Given the description of an element on the screen output the (x, y) to click on. 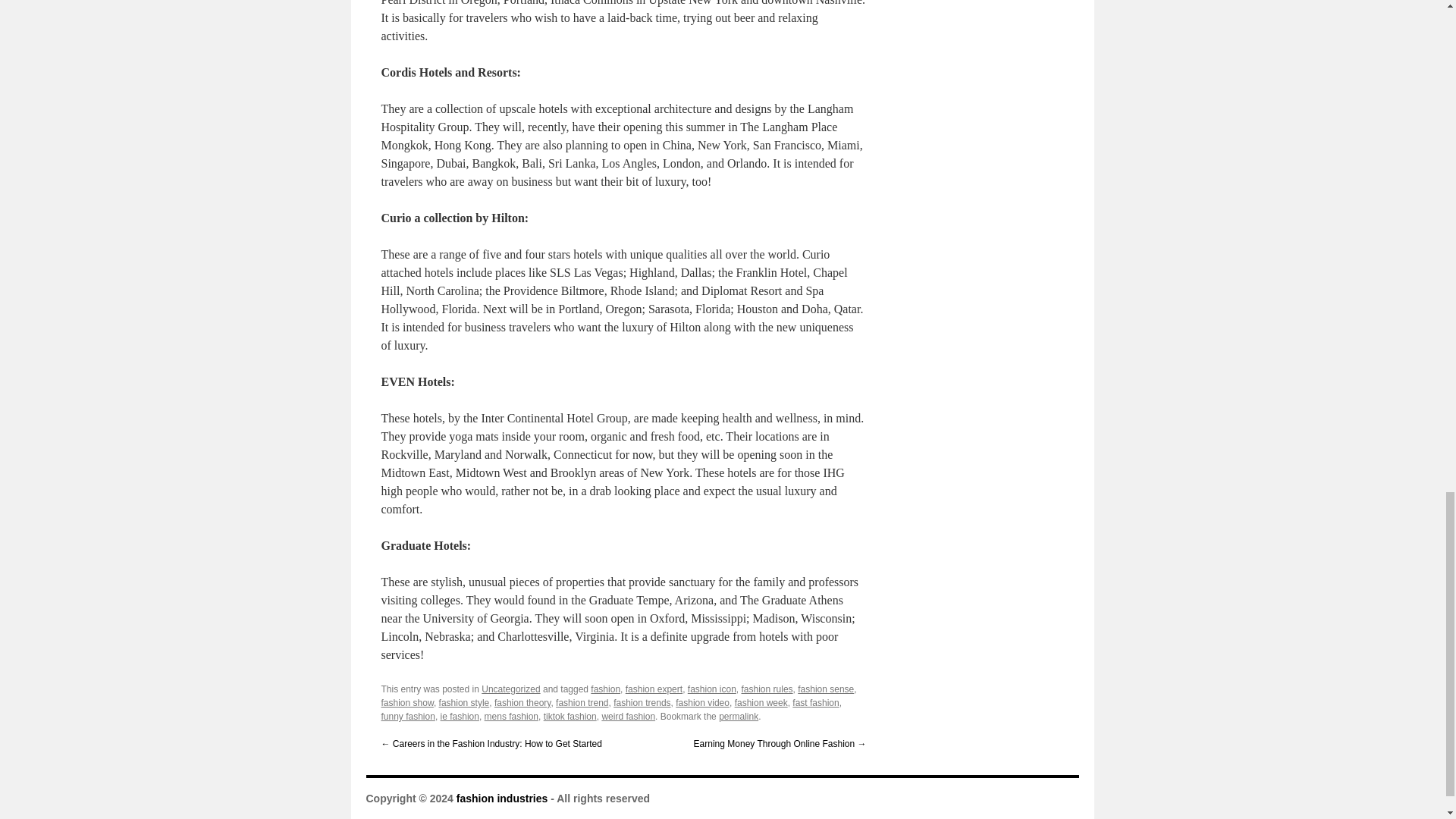
fashion industries (502, 798)
permalink (738, 716)
fashion icon (711, 688)
fashion week (761, 702)
fashion trends (640, 702)
fashion style (464, 702)
fashion (605, 688)
fashion show (406, 702)
fashion rules (767, 688)
fashion video (702, 702)
funny fashion (406, 716)
fashion theory (523, 702)
mens fashion (511, 716)
tiktok fashion (569, 716)
View all posts in Uncategorized (510, 688)
